Given the description of an element on the screen output the (x, y) to click on. 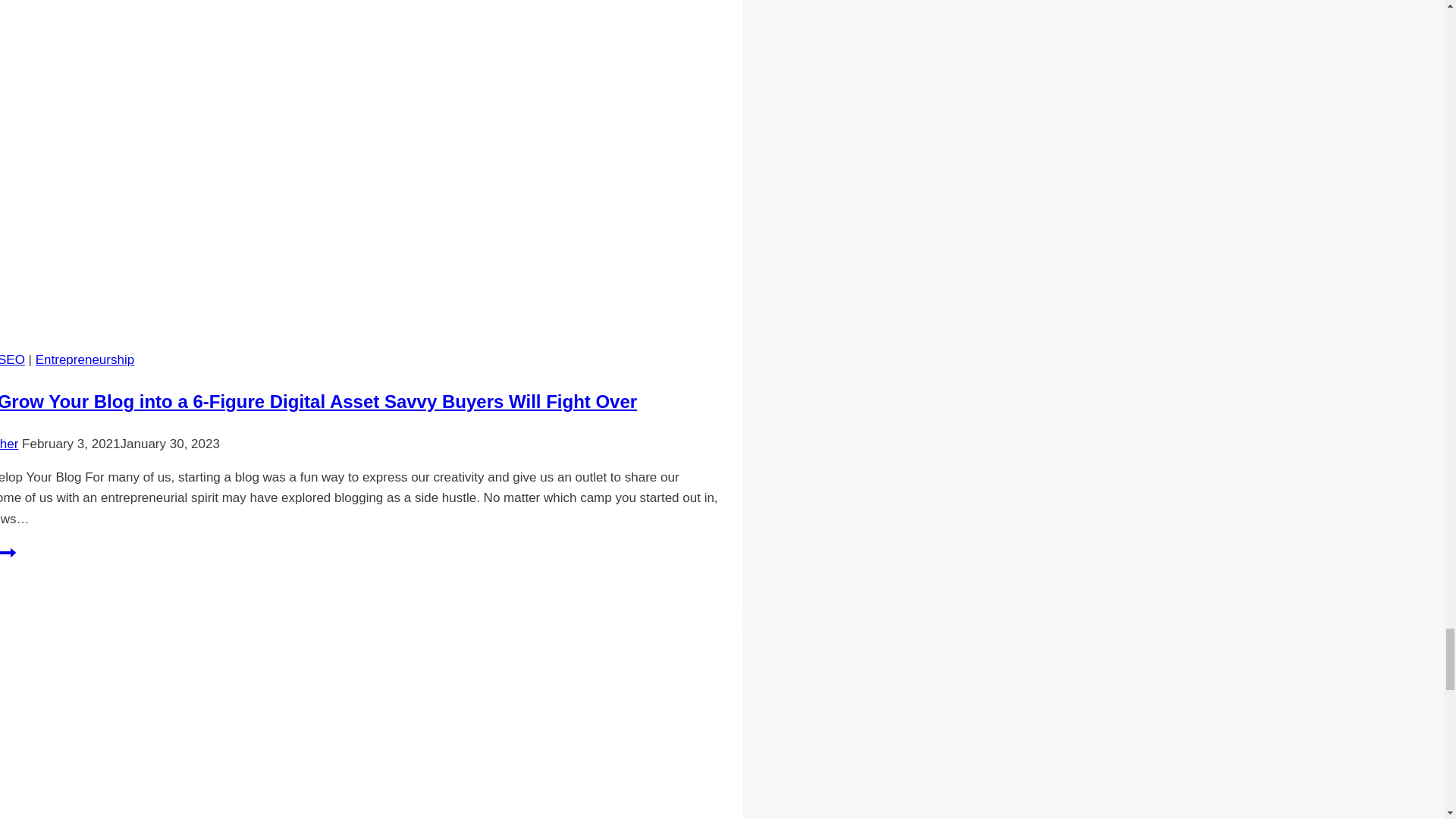
Continue (8, 552)
